Given the description of an element on the screen output the (x, y) to click on. 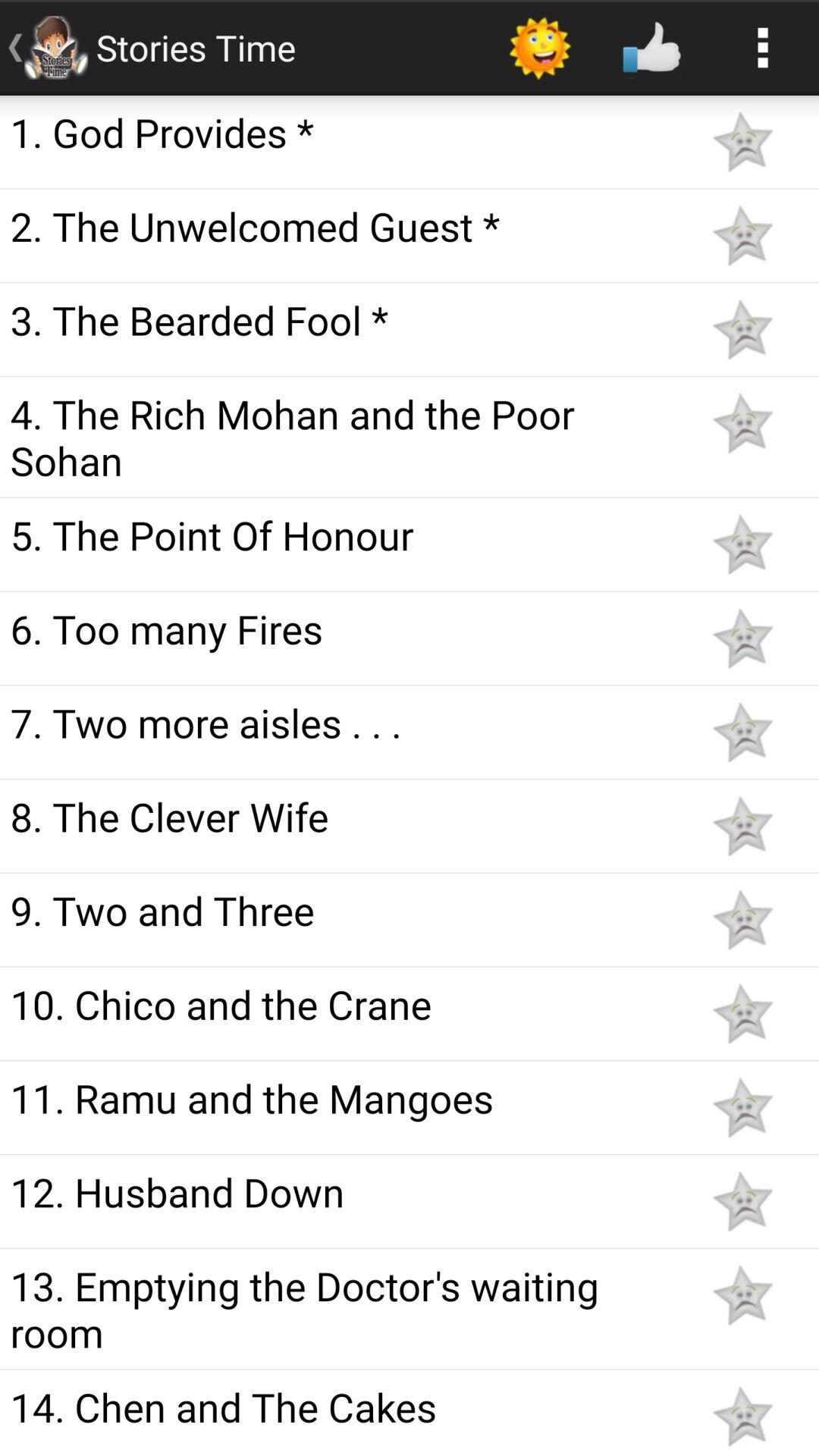
favorite (742, 329)
